Given the description of an element on the screen output the (x, y) to click on. 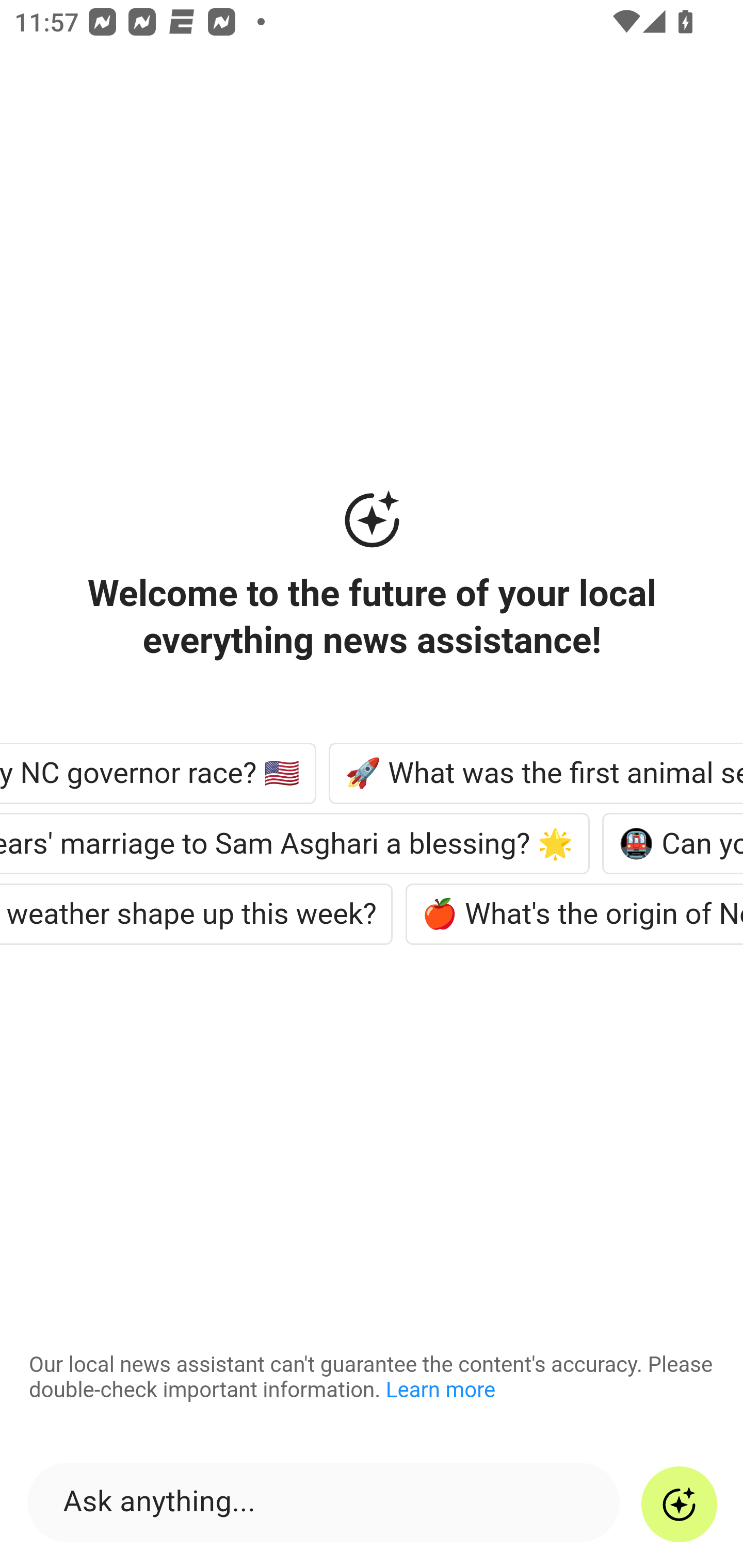
Can Trump sway NC governor race? 🇺🇸 (159, 772)
🌤️ How will the weather shape up this week? (197, 913)
